Given the description of an element on the screen output the (x, y) to click on. 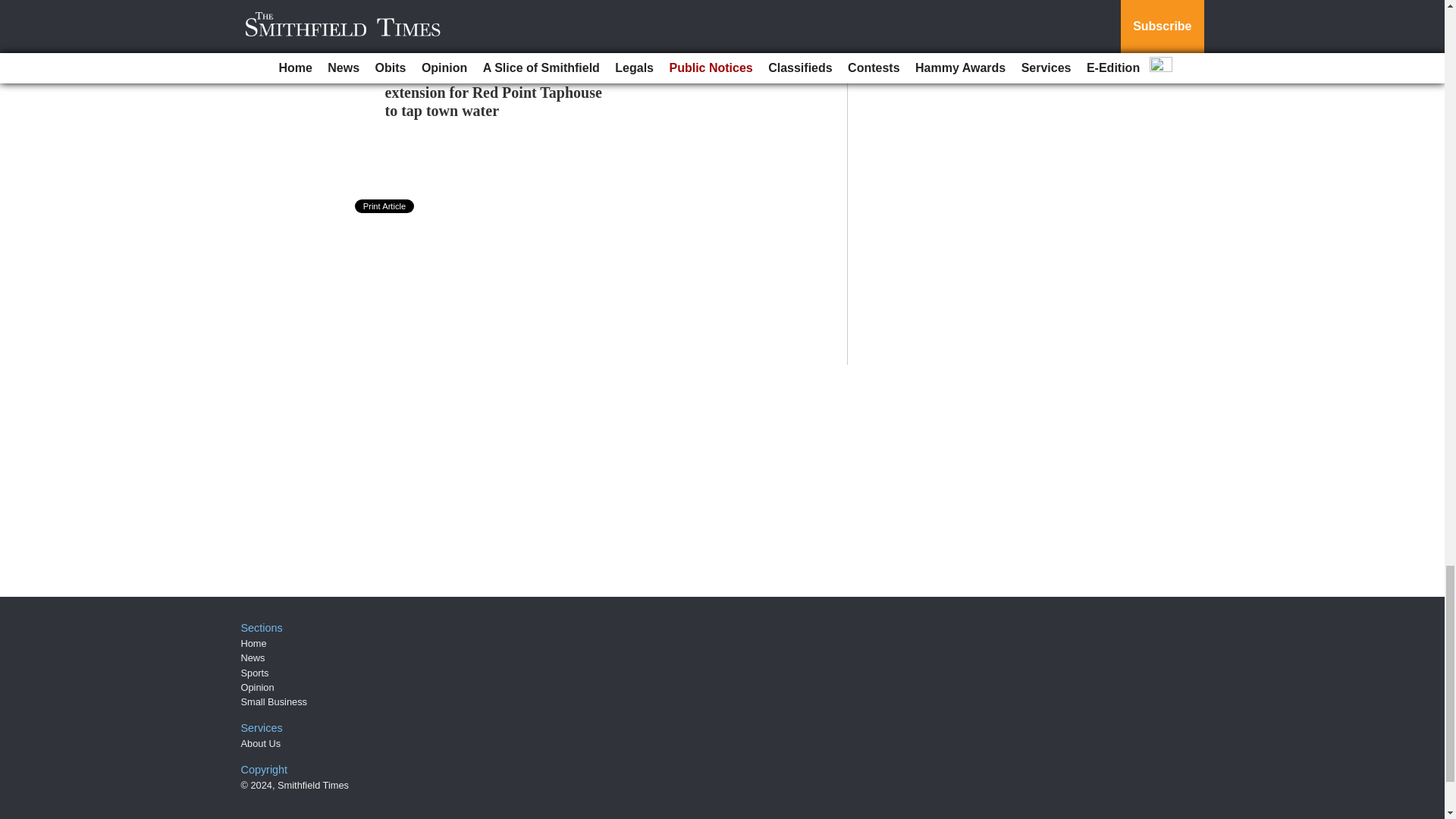
Print Article (384, 205)
